Given the description of an element on the screen output the (x, y) to click on. 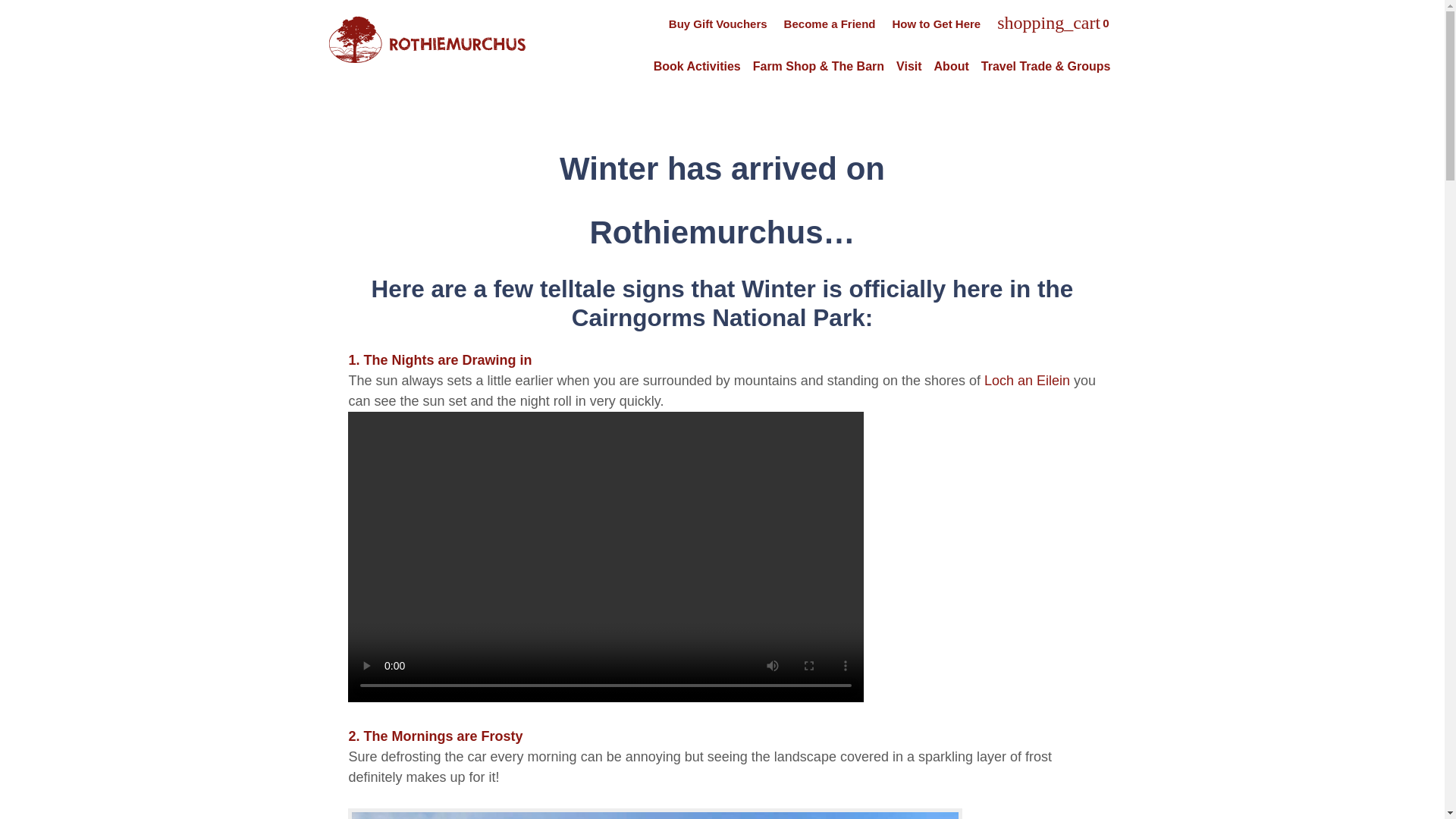
Become a Friend (821, 23)
Buy Gift Vouchers (709, 23)
Book Activities (696, 66)
Loch an Eilein (1027, 380)
Visit (908, 66)
About (951, 66)
How to Get Here (927, 23)
